Given the description of an element on the screen output the (x, y) to click on. 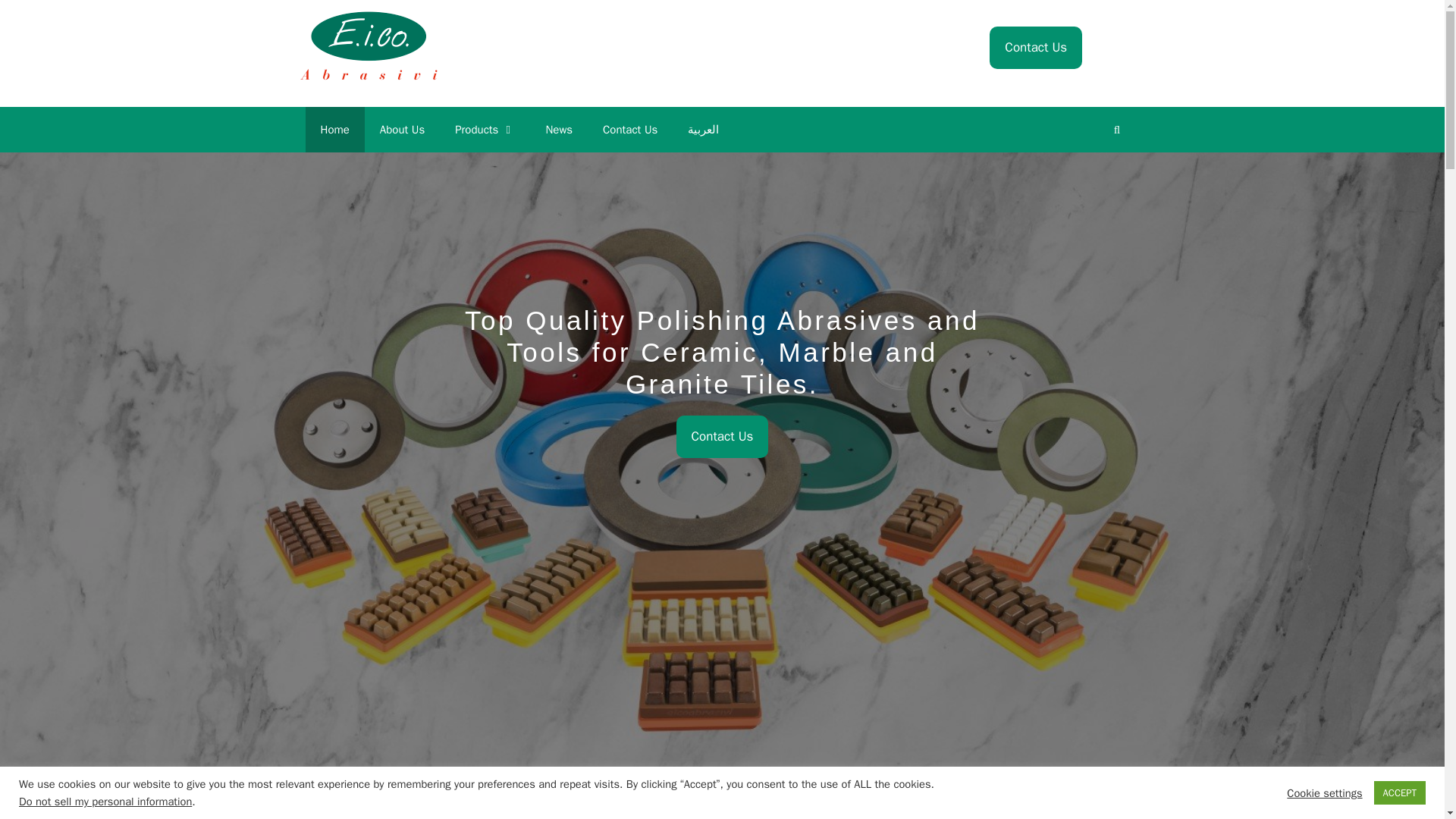
Products (484, 129)
About Us (402, 129)
Home (334, 129)
News (558, 129)
Contact Us (630, 129)
Contact Us (722, 436)
Contact Us (1035, 47)
